Given the description of an element on the screen output the (x, y) to click on. 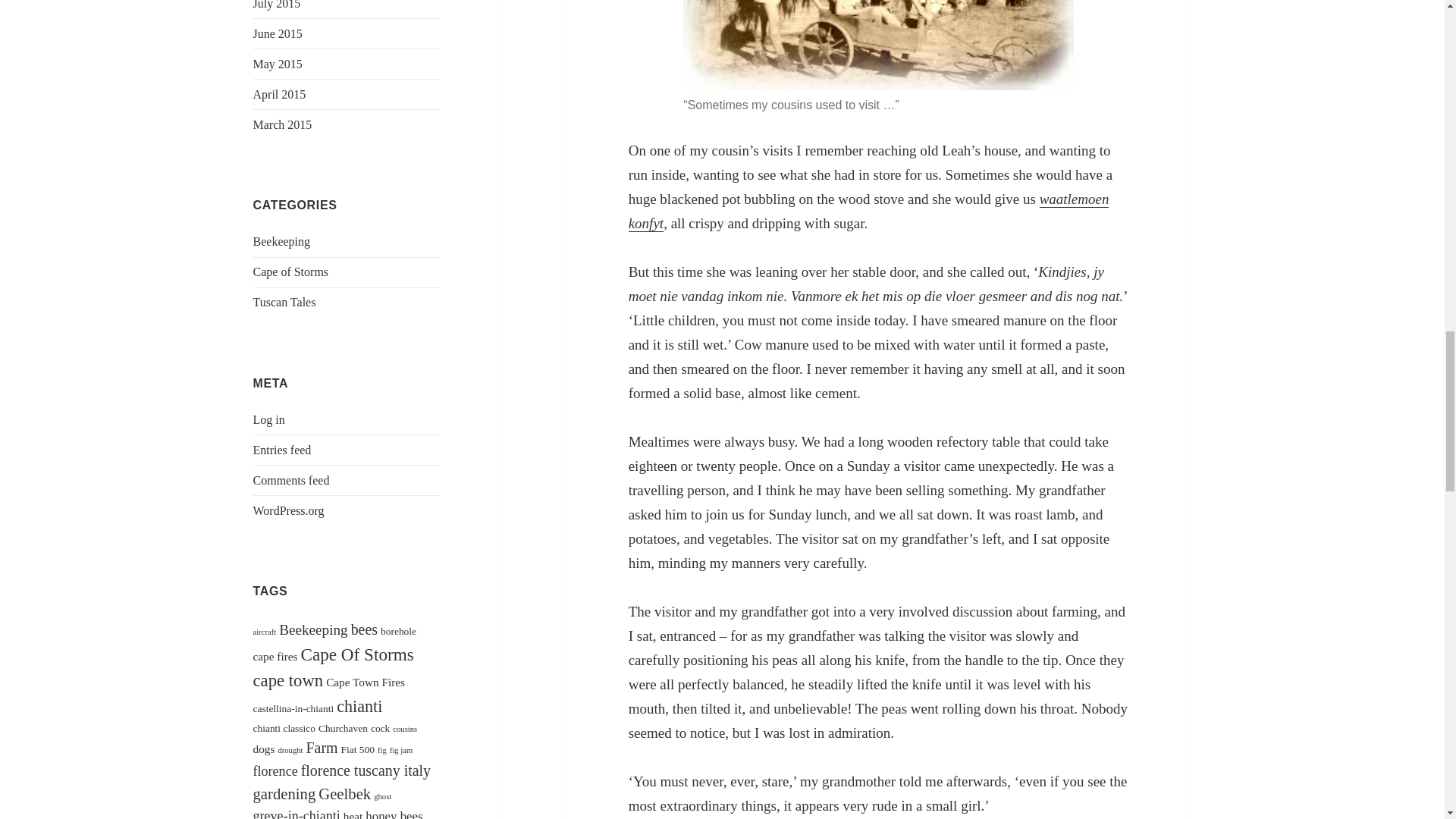
Beekeeping (282, 241)
March 2015 (283, 124)
April 2015 (279, 93)
Cape of Storms (291, 271)
May 2015 (277, 63)
June 2015 (277, 33)
July 2015 (277, 4)
